Given the description of an element on the screen output the (x, y) to click on. 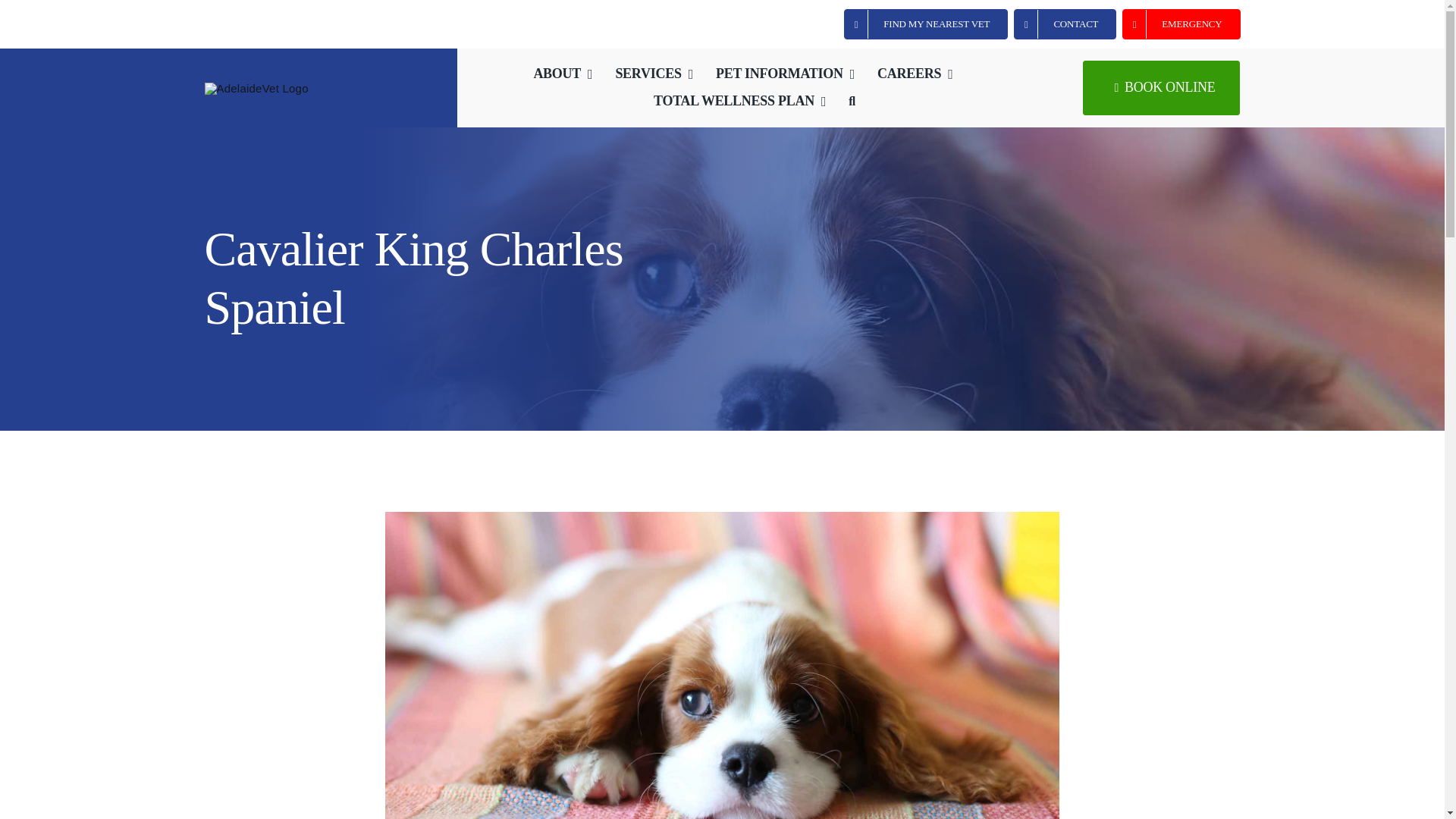
PET INFORMATION (785, 73)
ABOUT (562, 73)
FIND MY NEAREST VET (925, 24)
SERVICES (653, 73)
CONTACT (1064, 24)
EMERGENCY (1181, 24)
